Given the description of an element on the screen output the (x, y) to click on. 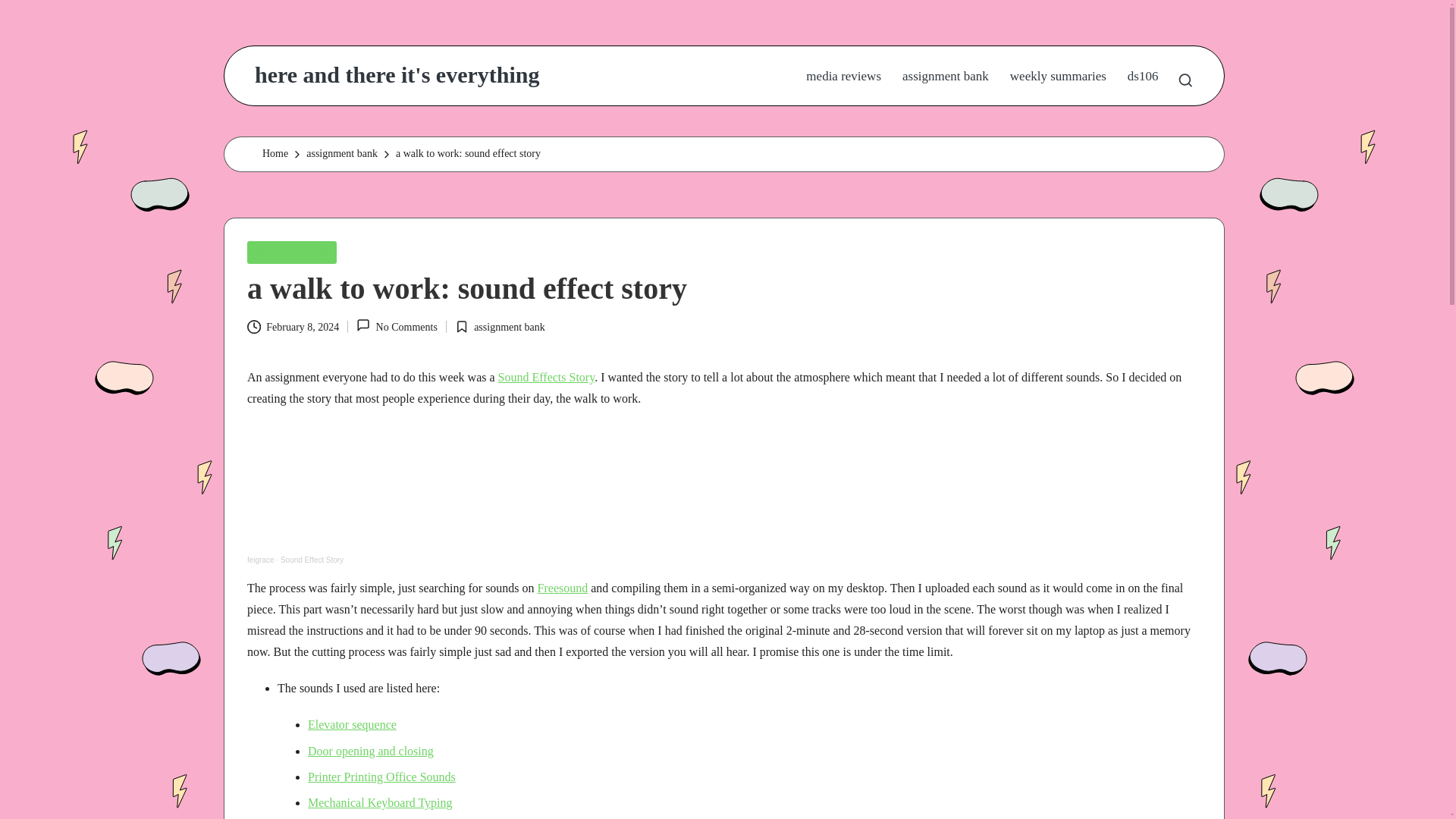
Printer Printing Office Sounds (381, 776)
feigrace (261, 560)
media reviews (843, 76)
Sound Effect Story (312, 560)
Home (275, 153)
Mechanical Keyboard Typing (379, 802)
No Comments (397, 325)
Door opening and closing (370, 750)
assignment bank (341, 153)
Sound Effect Story (312, 560)
